Given the description of an element on the screen output the (x, y) to click on. 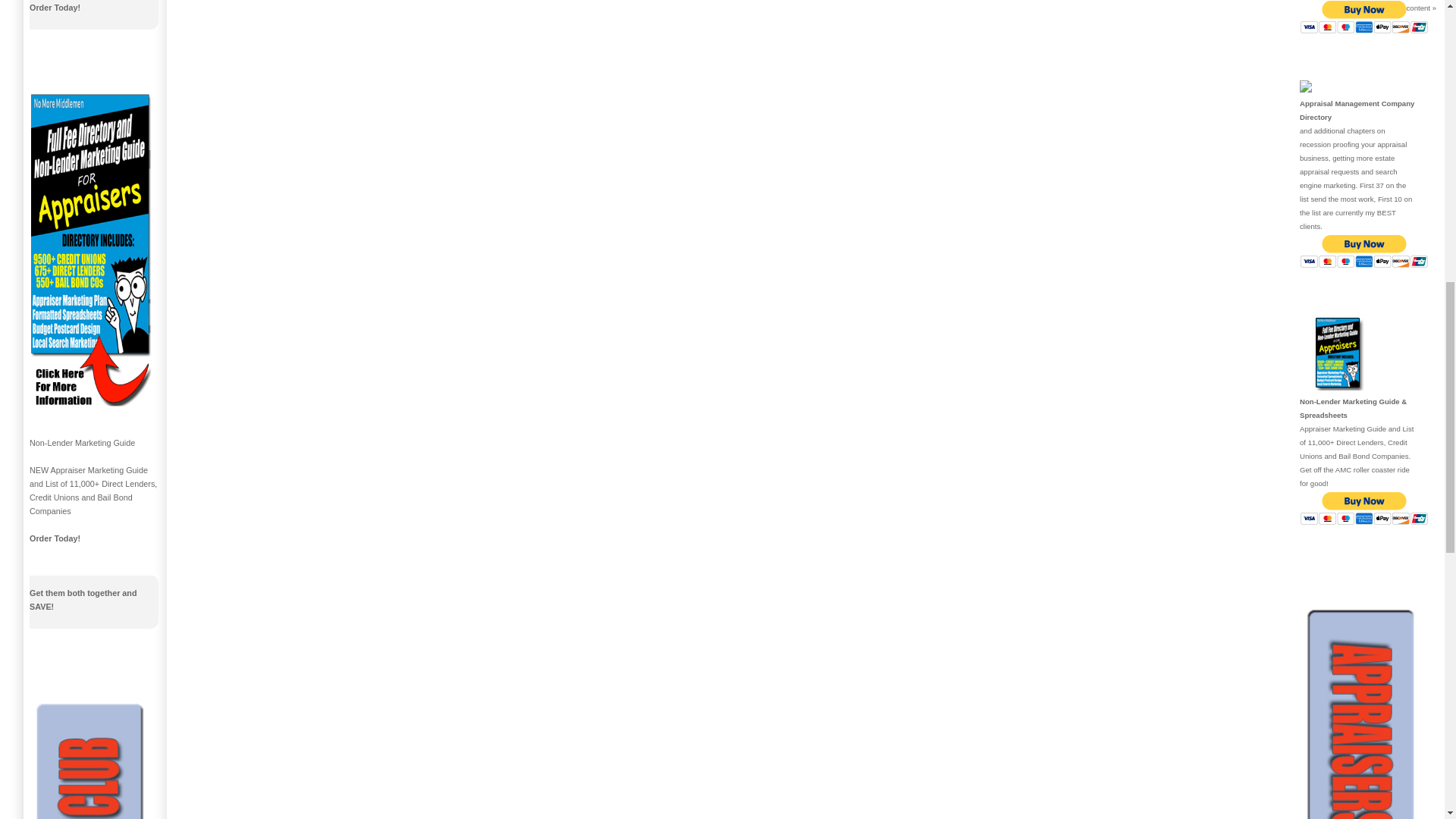
Order Today! (54, 537)
Get them both together and SAVE! (82, 599)
up to the page content (1408, 8)
Order Today! (54, 7)
up to content (1408, 8)
